Given the description of an element on the screen output the (x, y) to click on. 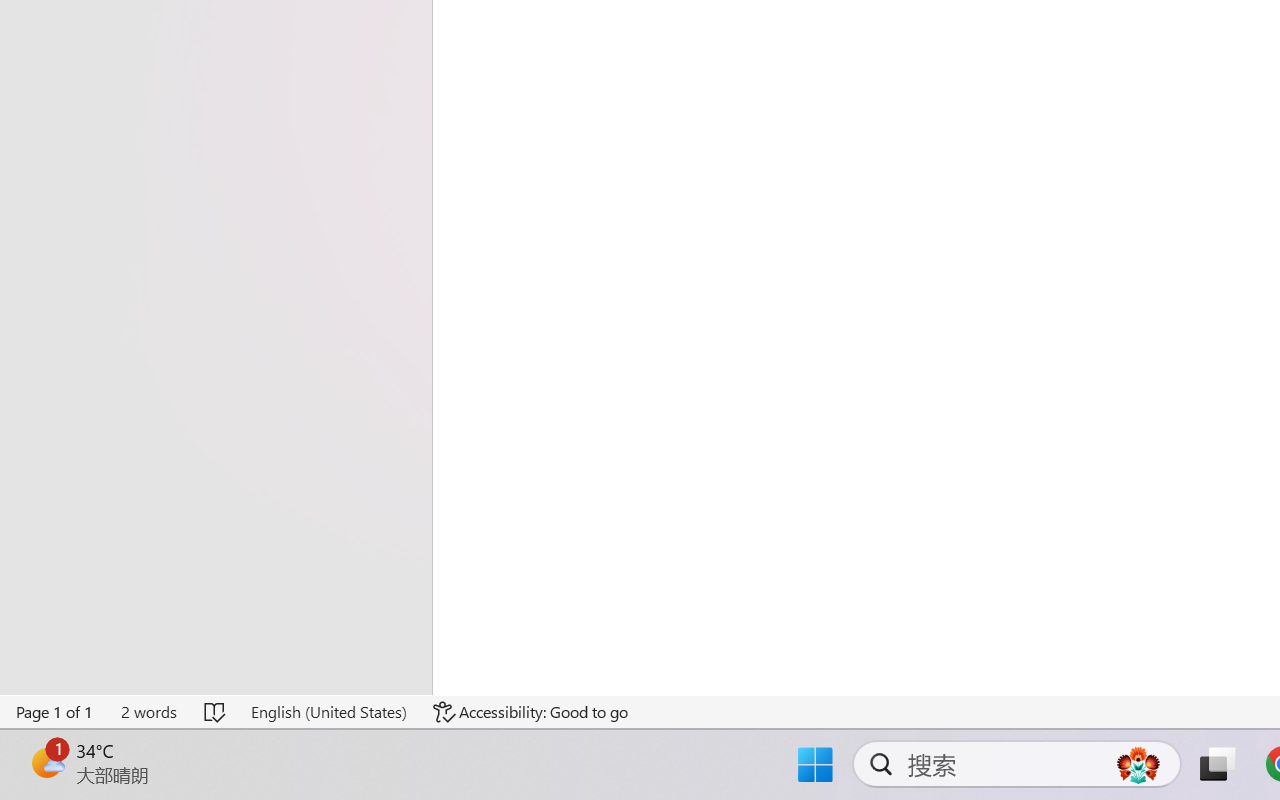
Page Number Page 1 of 1 (55, 712)
Language English (United States) (328, 712)
AutomationID: BadgeAnchorLargeTicker (46, 762)
Spelling and Grammar Check No Errors (216, 712)
AutomationID: DynamicSearchBoxGleamImage (1138, 764)
Accessibility Checker Accessibility: Good to go (531, 712)
